Given the description of an element on the screen output the (x, y) to click on. 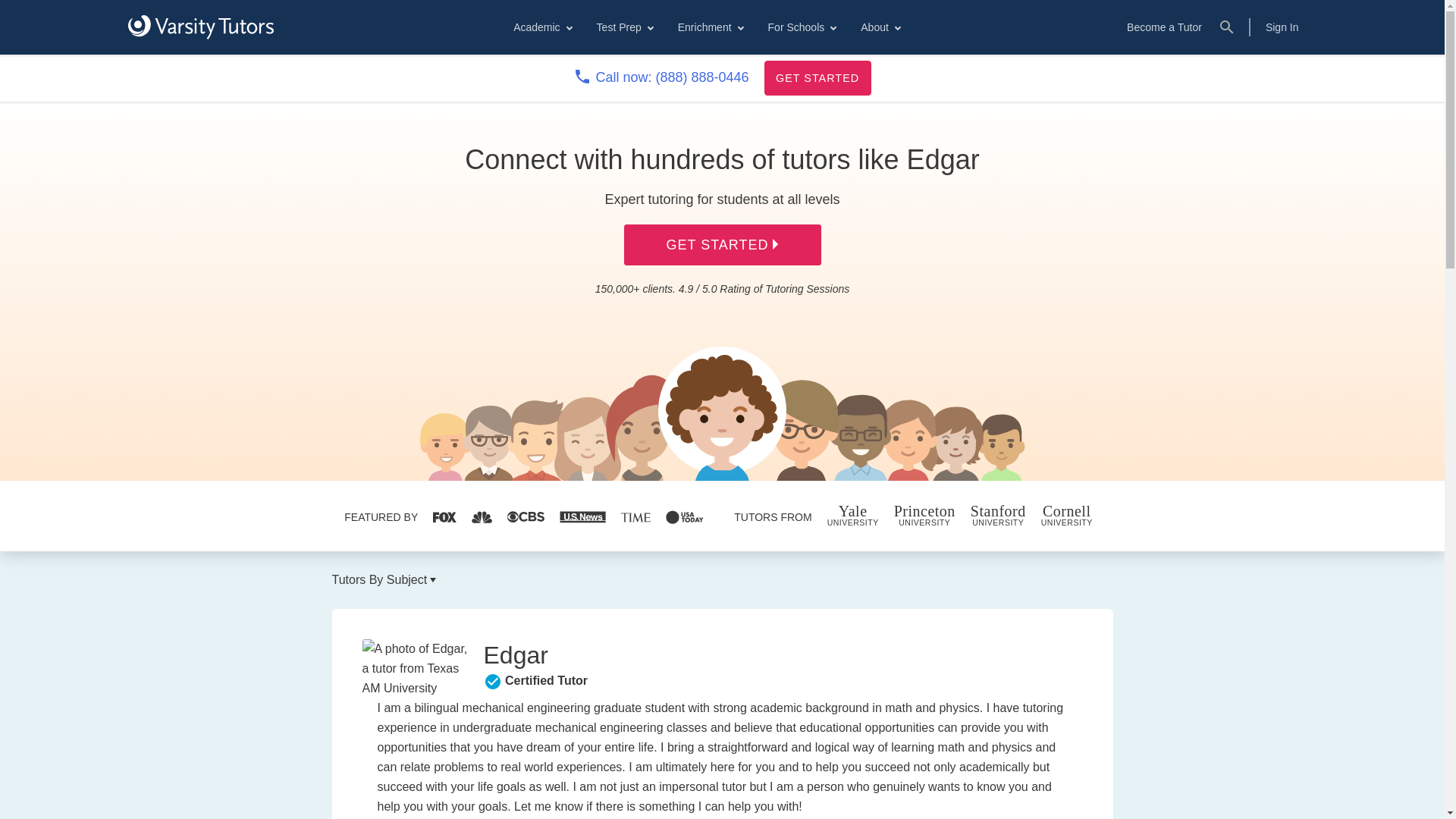
Academic (541, 27)
Varsity Tutors (200, 26)
GET STARTED (817, 77)
Varsity Tutors (200, 27)
